Given the description of an element on the screen output the (x, y) to click on. 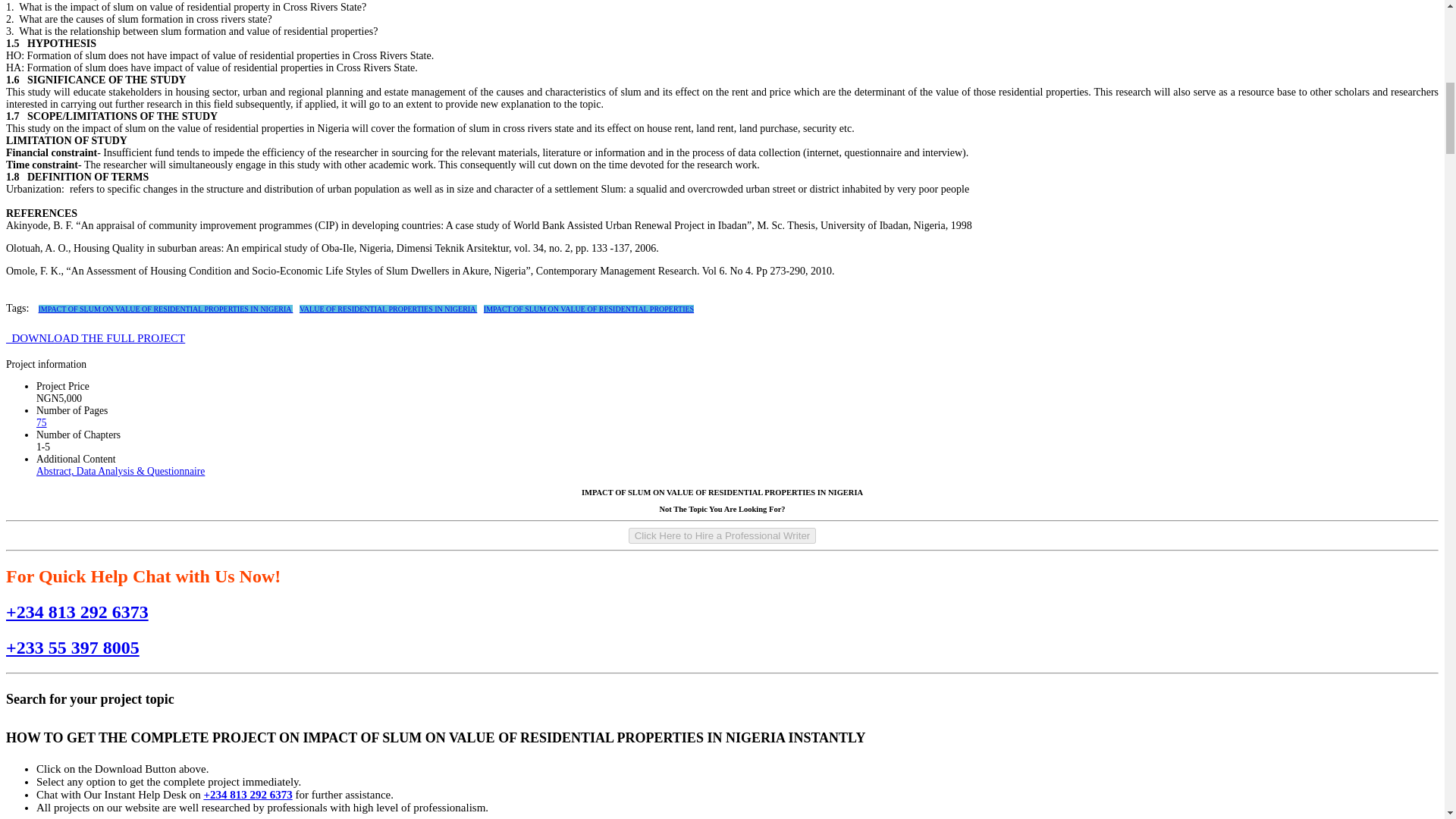
Click Here to Hire a Professional Writer (722, 535)
IMPACT OF SLUM ON VALUE OF RESIDENTIAL PROPERTIES (588, 308)
75 (41, 422)
IMPACT OF SLUM ON VALUE OF RESIDENTIAL PROPERTIES IN NIGERIA (166, 308)
  DOWNLOAD THE FULL PROJECT (94, 337)
VALUE OF RESIDENTIAL PROPERTIES IN NIGERIA (388, 308)
